Given the description of an element on the screen output the (x, y) to click on. 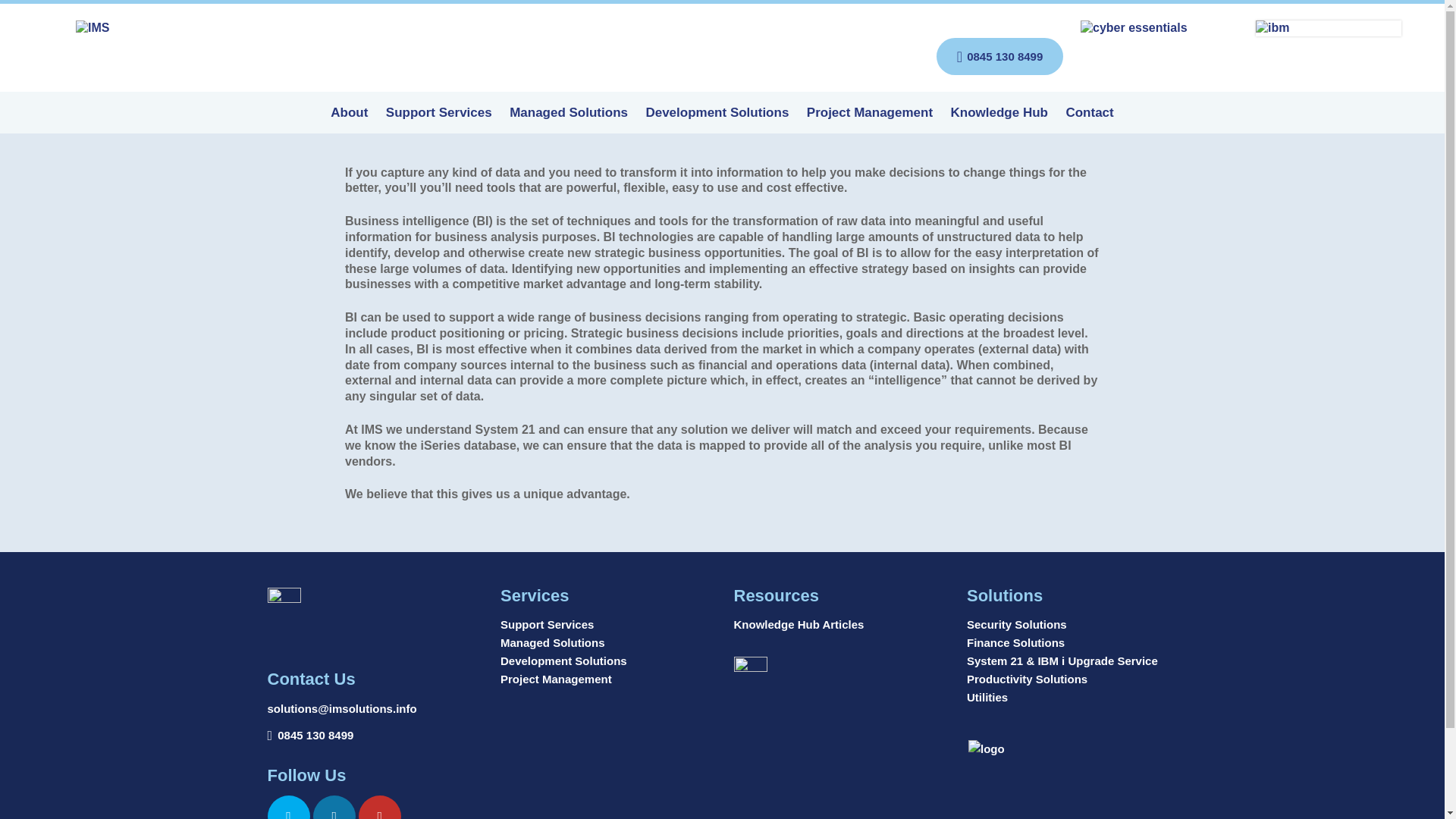
IMS on Youtube (379, 807)
Support Services (438, 119)
Email IMS (341, 709)
IBM (1327, 28)
About (349, 119)
IMS (119, 28)
IMS on LinkedIn (334, 807)
IMS on Twitter (287, 807)
Call IMS (315, 735)
Contact (1089, 119)
Managed Solutions (568, 119)
Cyber Essentials (1159, 28)
Knowledge Hub (999, 119)
0845 130 8499 (315, 735)
Project Management (869, 119)
